Given the description of an element on the screen output the (x, y) to click on. 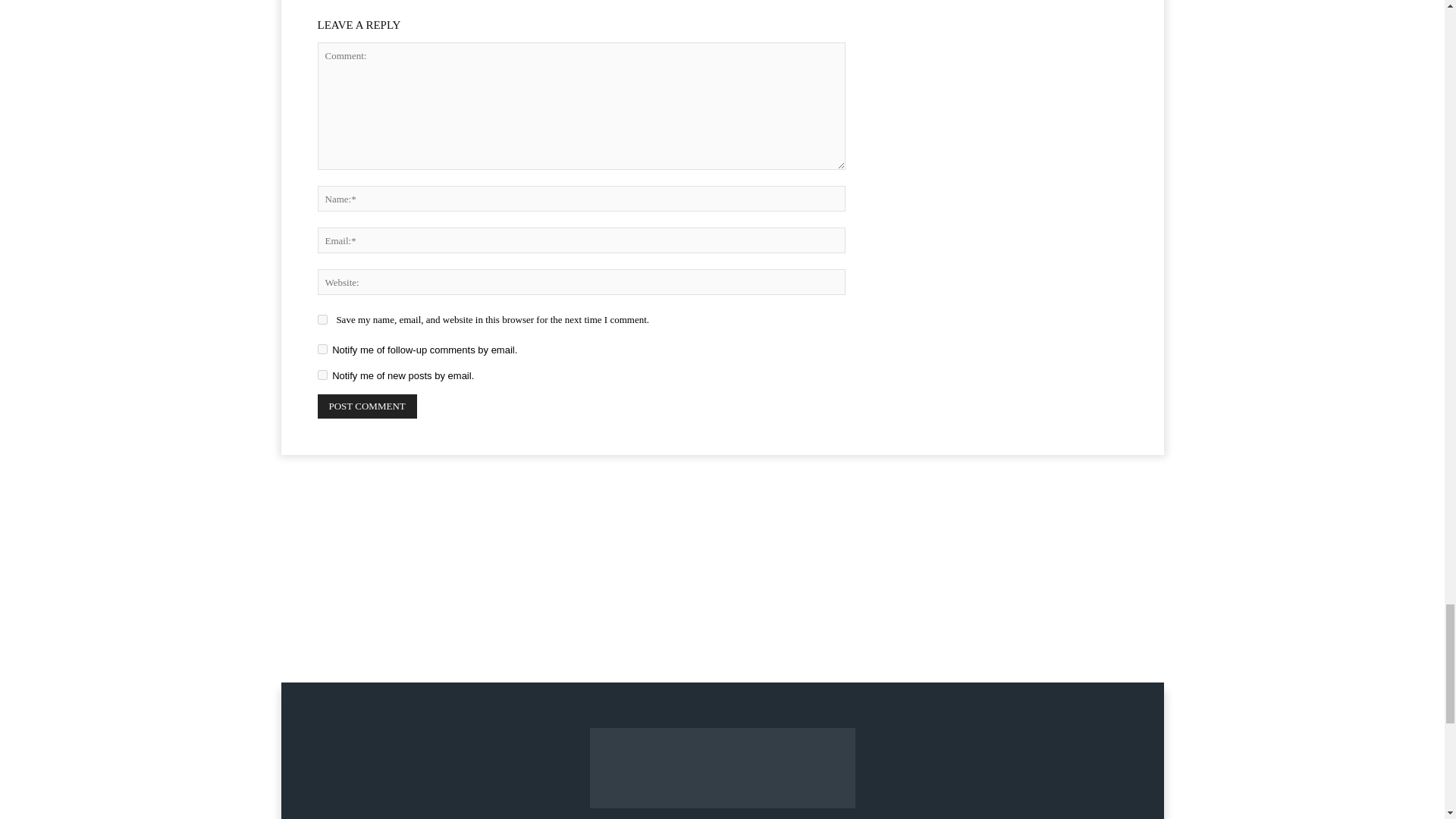
Post Comment (366, 405)
yes (321, 319)
subscribe (321, 375)
subscribe (321, 348)
